Given the description of an element on the screen output the (x, y) to click on. 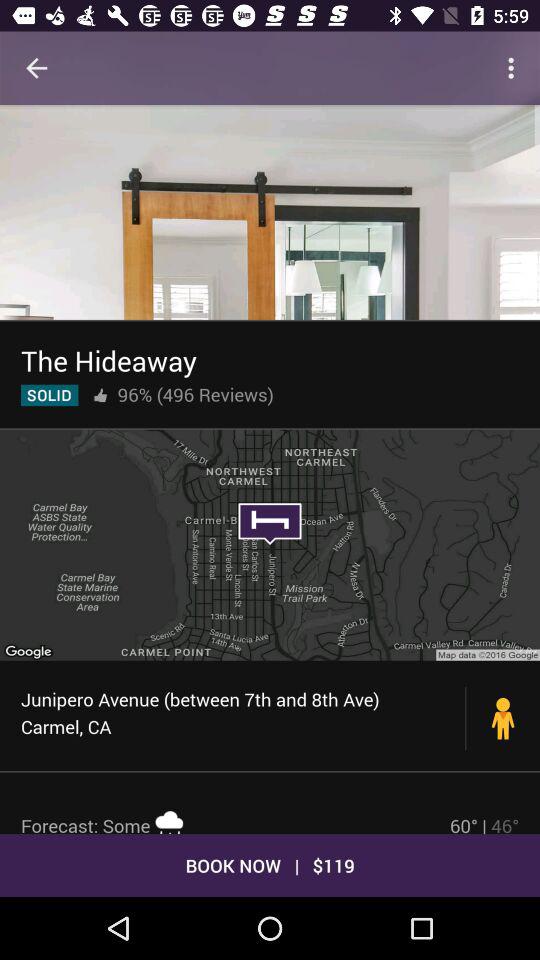
turn off the icon next to the junipero avenue between (503, 718)
